Given the description of an element on the screen output the (x, y) to click on. 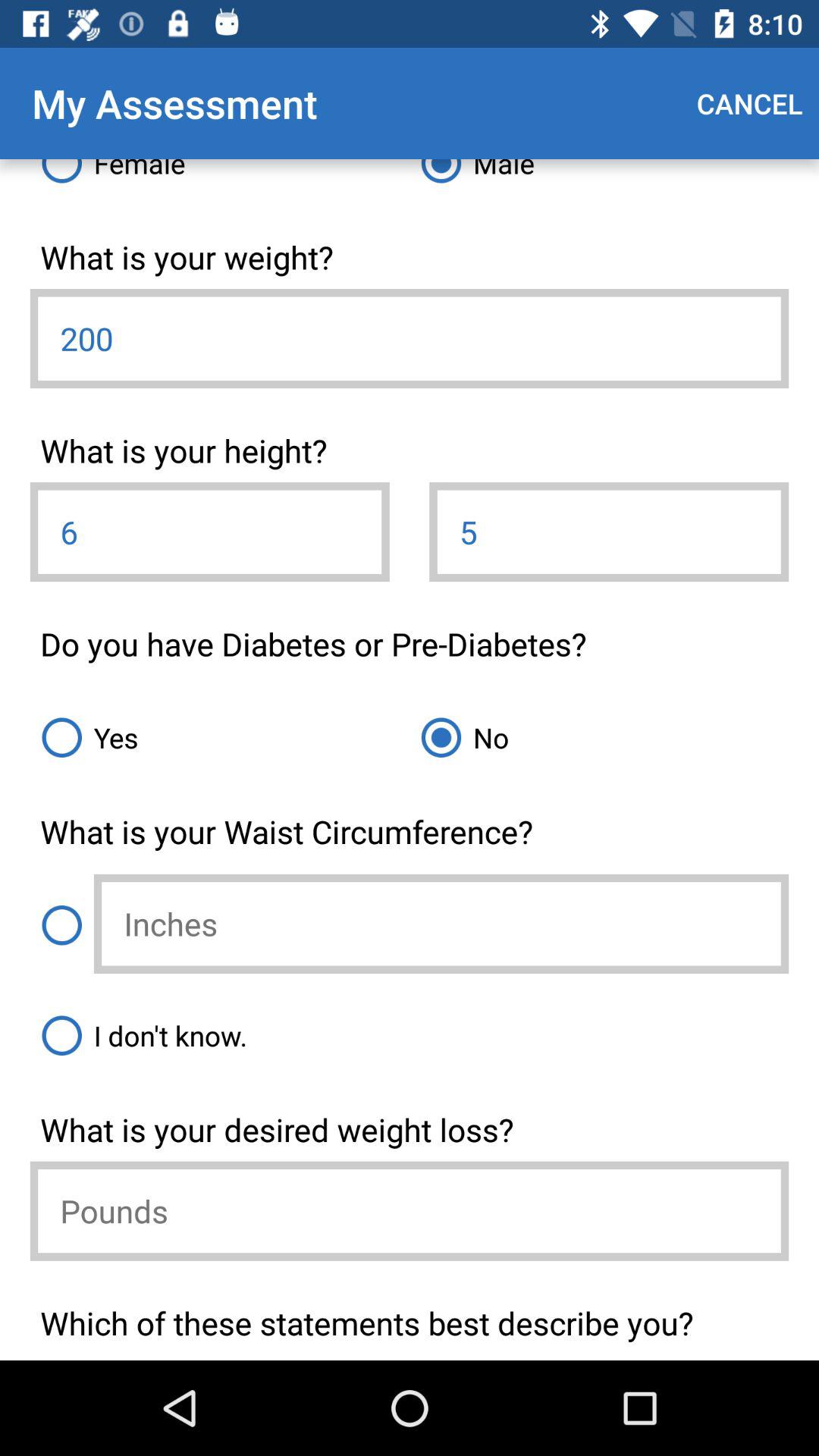
tap item above what is your (219, 177)
